Given the description of an element on the screen output the (x, y) to click on. 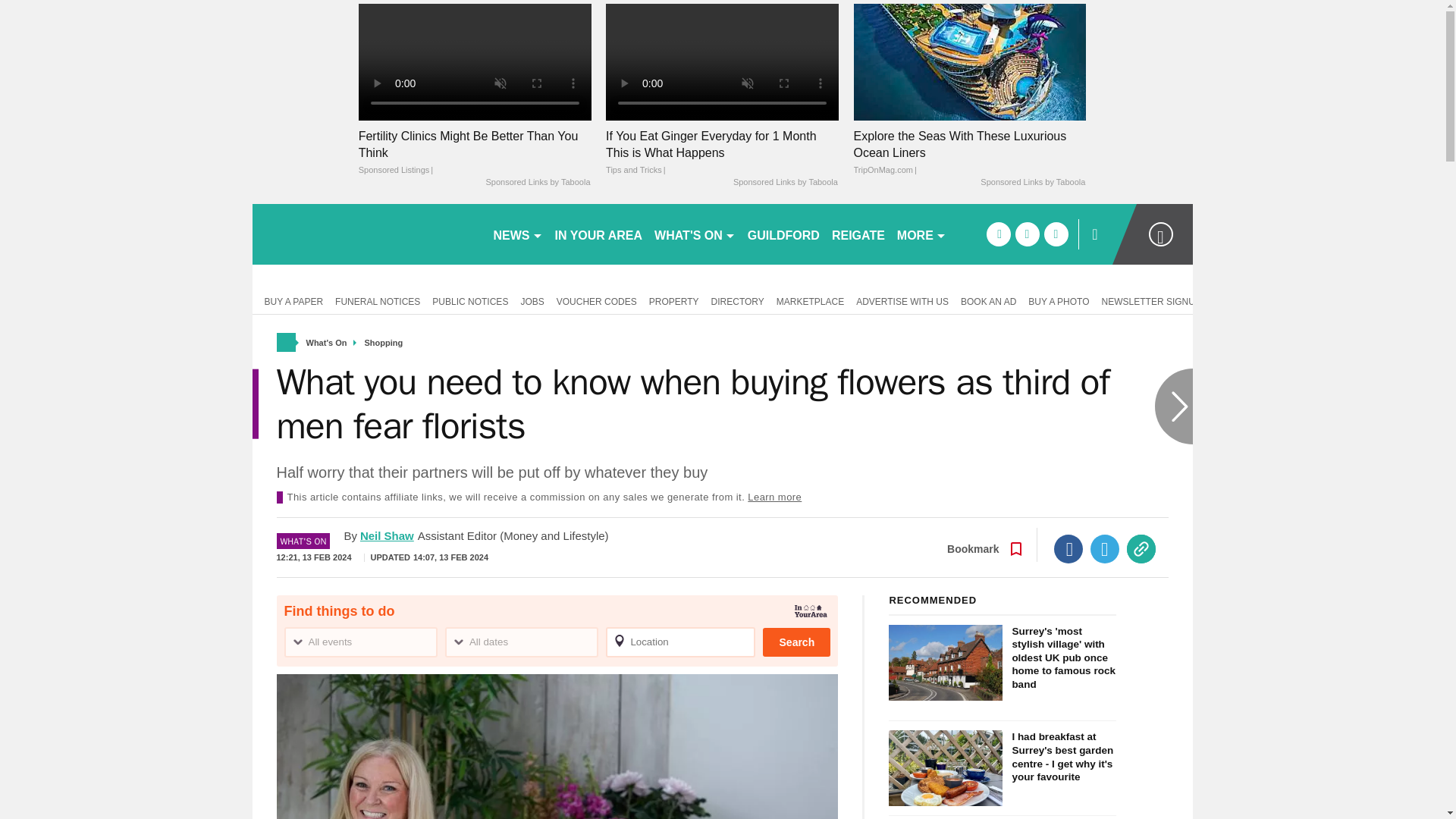
Sponsored Links by Taboola (536, 182)
If You Eat Ginger Everyday for 1 Month This is What Happens (721, 61)
Fertility Clinics Might Be Better Than You Think (474, 61)
Sponsored Links by Taboola (1031, 182)
Fertility Clinics Might Be Better Than You Think (474, 152)
Explore the Seas With These Luxurious Ocean Liners (969, 152)
Sponsored Links by Taboola (785, 182)
GUILDFORD (783, 233)
Twitter (1104, 548)
twitter (1026, 233)
getsurrey (365, 233)
Facebook (1068, 548)
If You Eat Ginger Everyday for 1 Month This is What Happens (721, 152)
REIGATE (858, 233)
NEWS (517, 233)
